Given the description of an element on the screen output the (x, y) to click on. 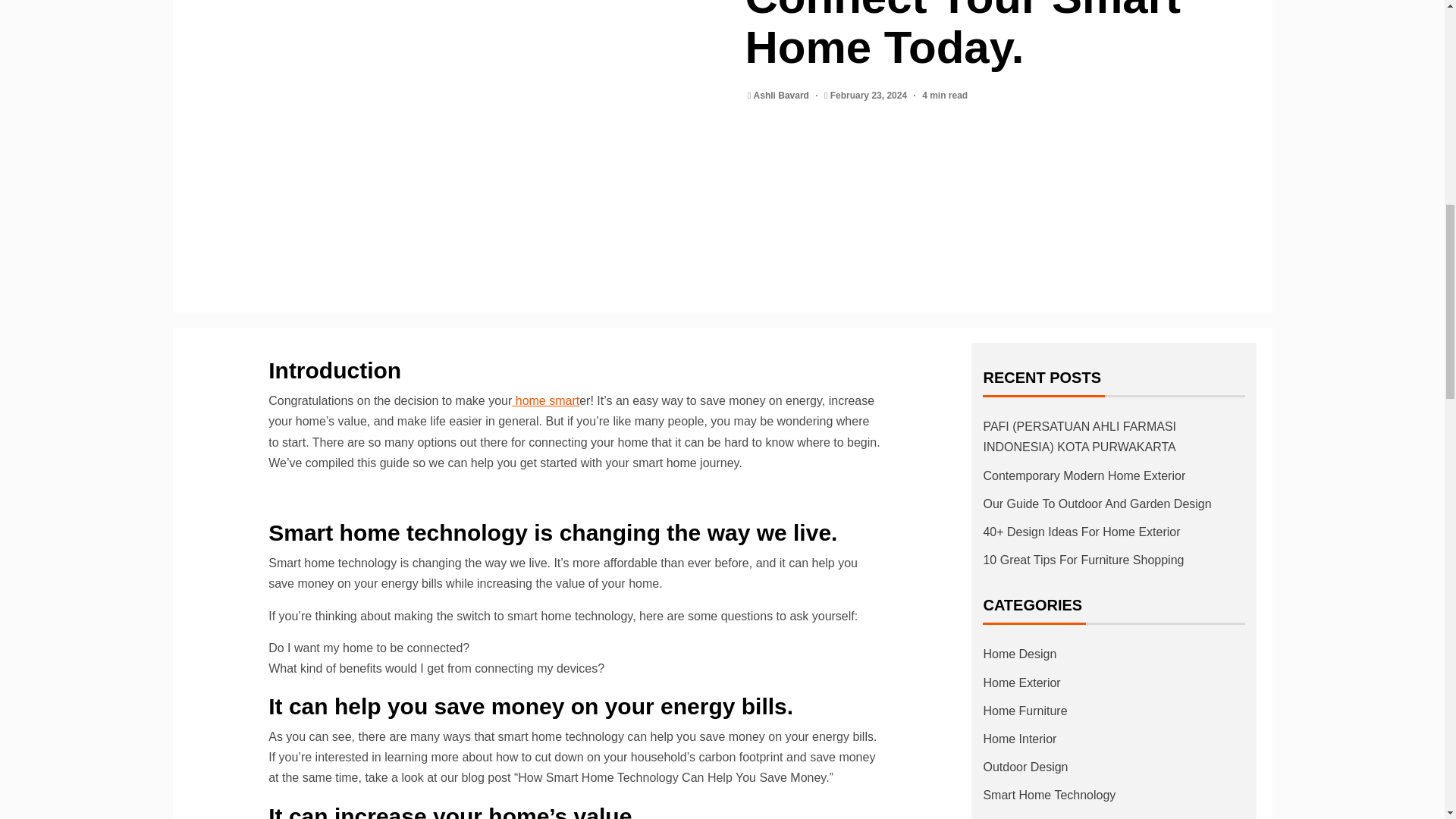
home smart (545, 400)
Ashli Bavard (783, 95)
